Given the description of an element on the screen output the (x, y) to click on. 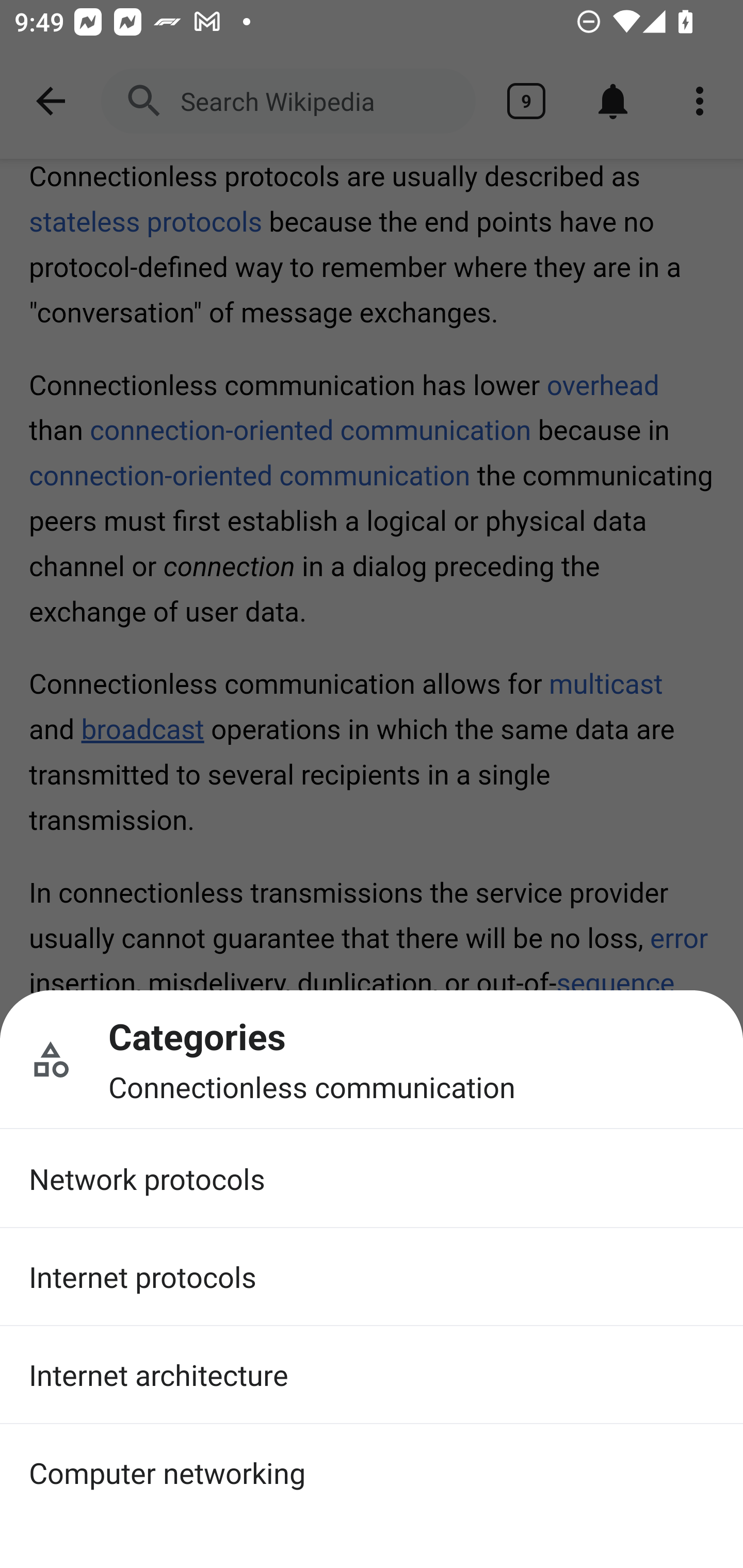
Network protocols (371, 1178)
Internet protocols (371, 1275)
Internet architecture (371, 1374)
Computer networking (371, 1471)
